Given the description of an element on the screen output the (x, y) to click on. 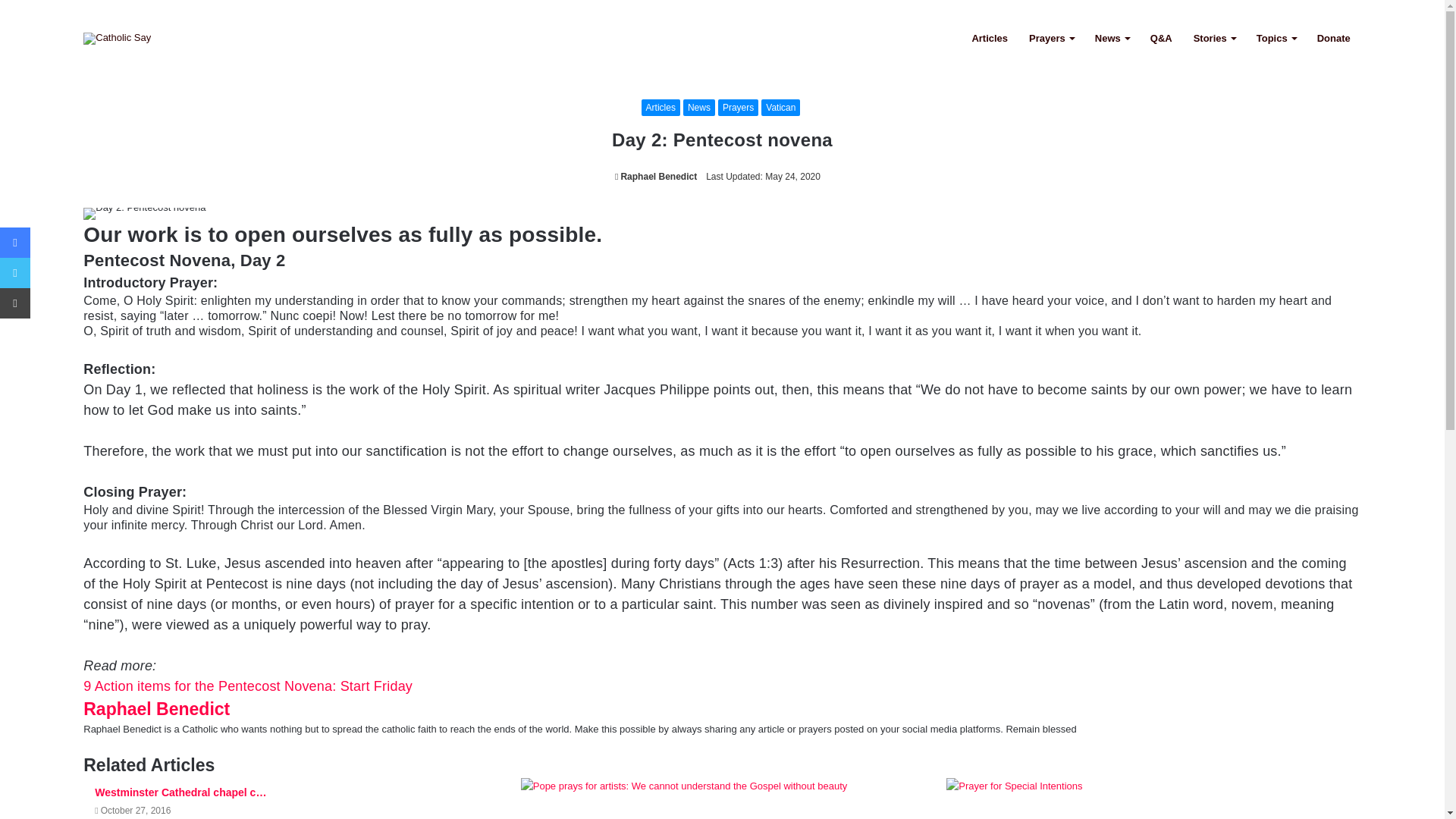
9 Action items for the Pentecost Novena: Start Friday (247, 685)
Topics (1276, 38)
Prayers (737, 107)
Donate (1333, 38)
Articles (660, 107)
Catholic Say (116, 37)
Raphael Benedict (655, 176)
Raphael Benedict (655, 176)
Print (15, 303)
Prayers (1050, 38)
News (1112, 38)
News (698, 107)
Vatican (780, 107)
Twitter (15, 272)
Articles (988, 38)
